Given the description of an element on the screen output the (x, y) to click on. 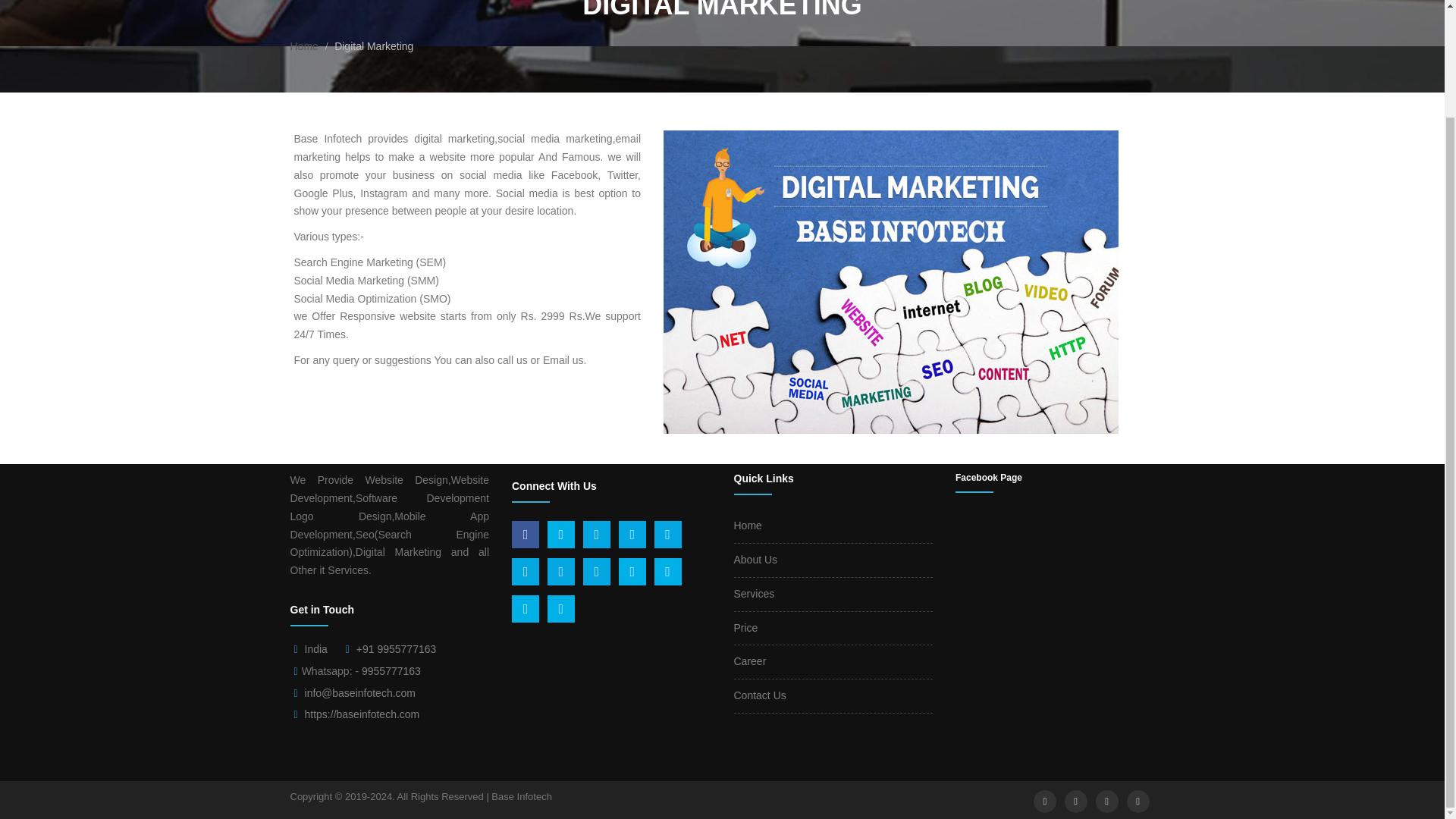
Home (303, 46)
9955777163 (390, 671)
India (315, 648)
